Given the description of an element on the screen output the (x, y) to click on. 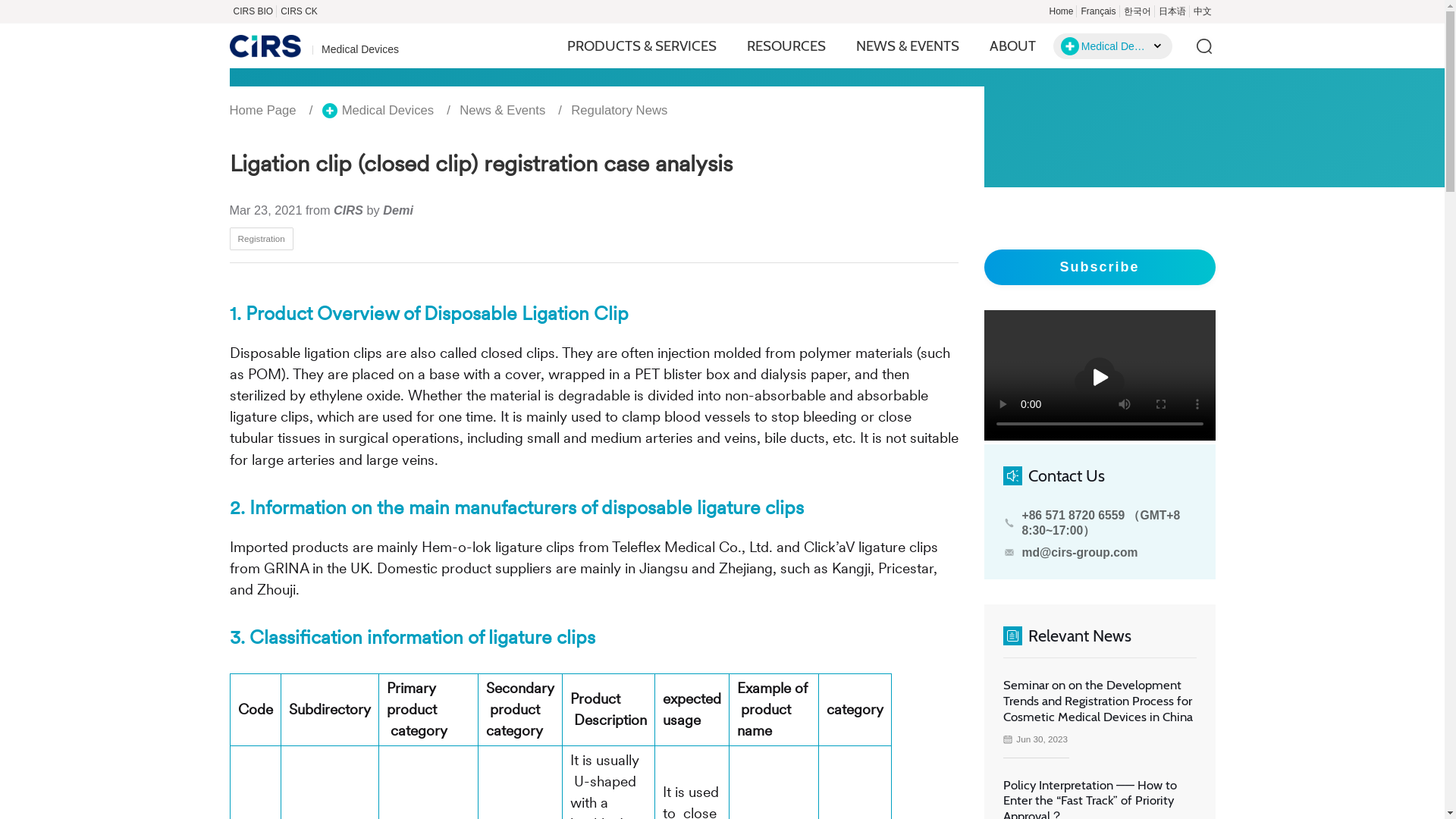
Home (1061, 11)
RESOURCES (785, 45)
ABOUT (1012, 45)
CIRS CK (298, 11)
CIRS BIO (252, 11)
